Given the description of an element on the screen output the (x, y) to click on. 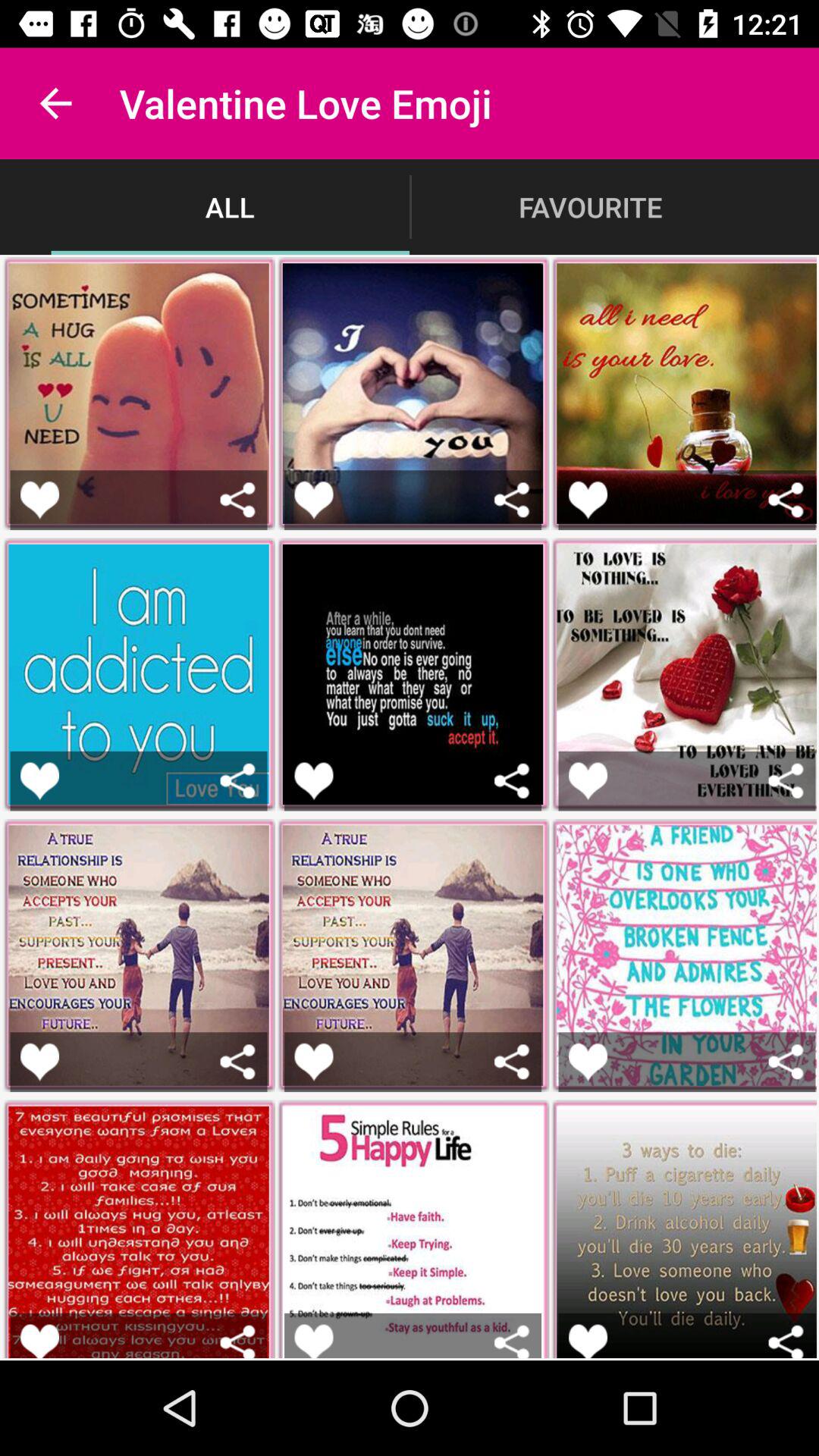
heart option likes (587, 499)
